Given the description of an element on the screen output the (x, y) to click on. 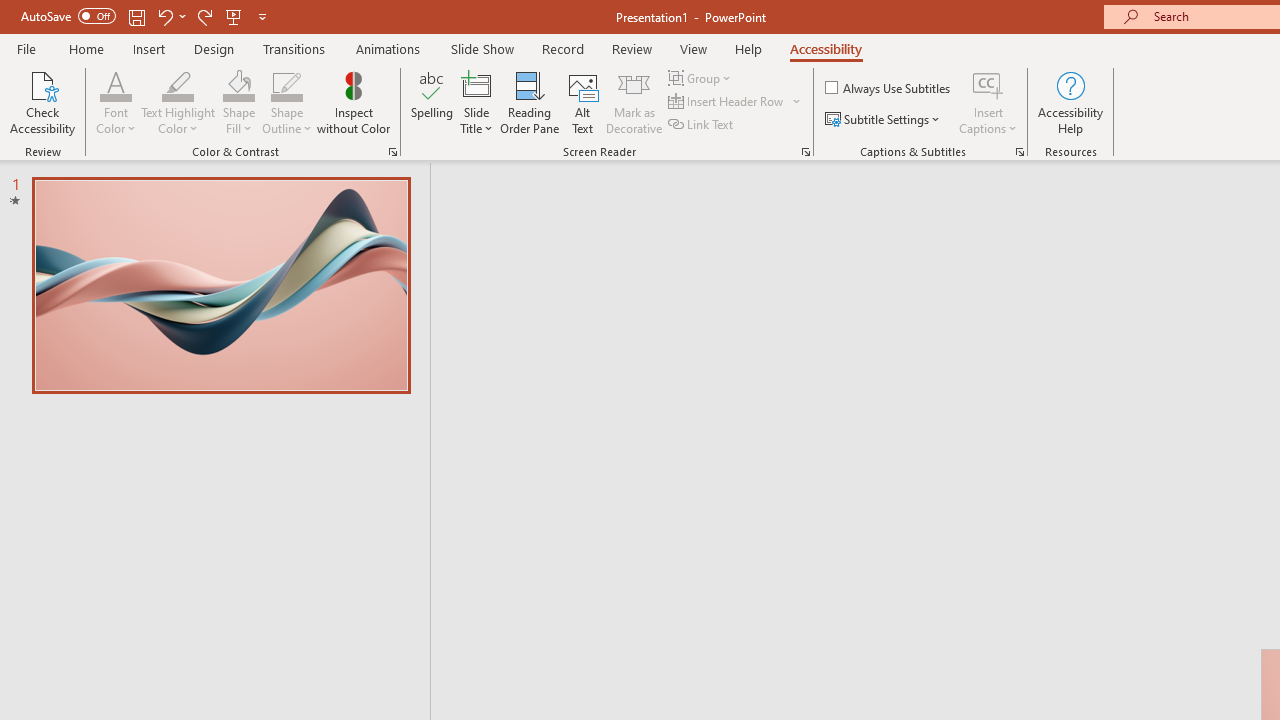
Subtitle Settings (884, 119)
Always Use Subtitles (889, 87)
Link Text (702, 124)
Slide Title (476, 84)
Accessibility Help (1070, 102)
Color & Contrast (392, 151)
